Given the description of an element on the screen output the (x, y) to click on. 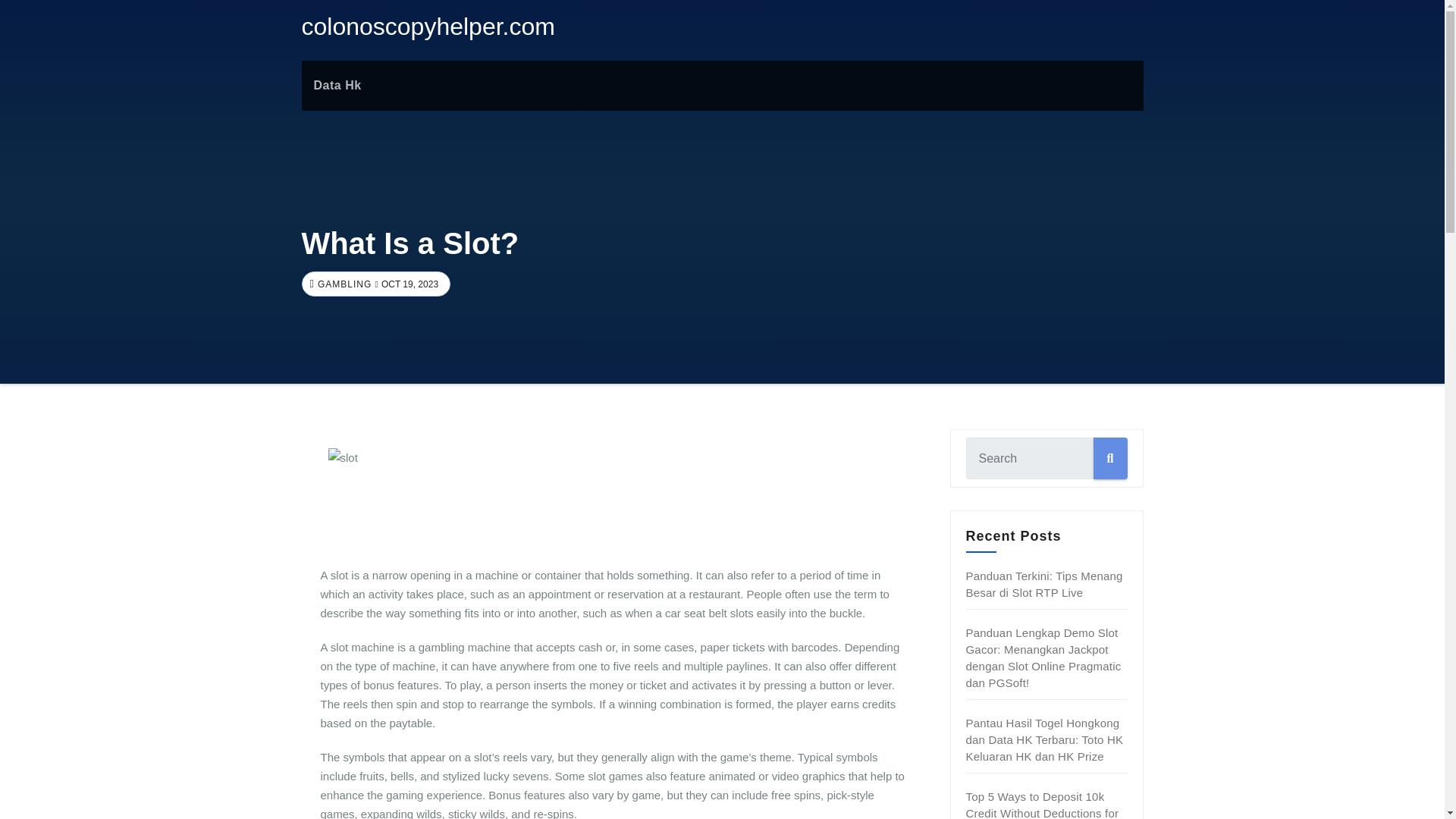
colonoscopyhelper.com (427, 26)
Data Hk (337, 85)
Data Hk (337, 85)
Panduan Terkini: Tips Menang Besar di Slot RTP Live (1044, 583)
GAMBLING (342, 284)
